Given the description of an element on the screen output the (x, y) to click on. 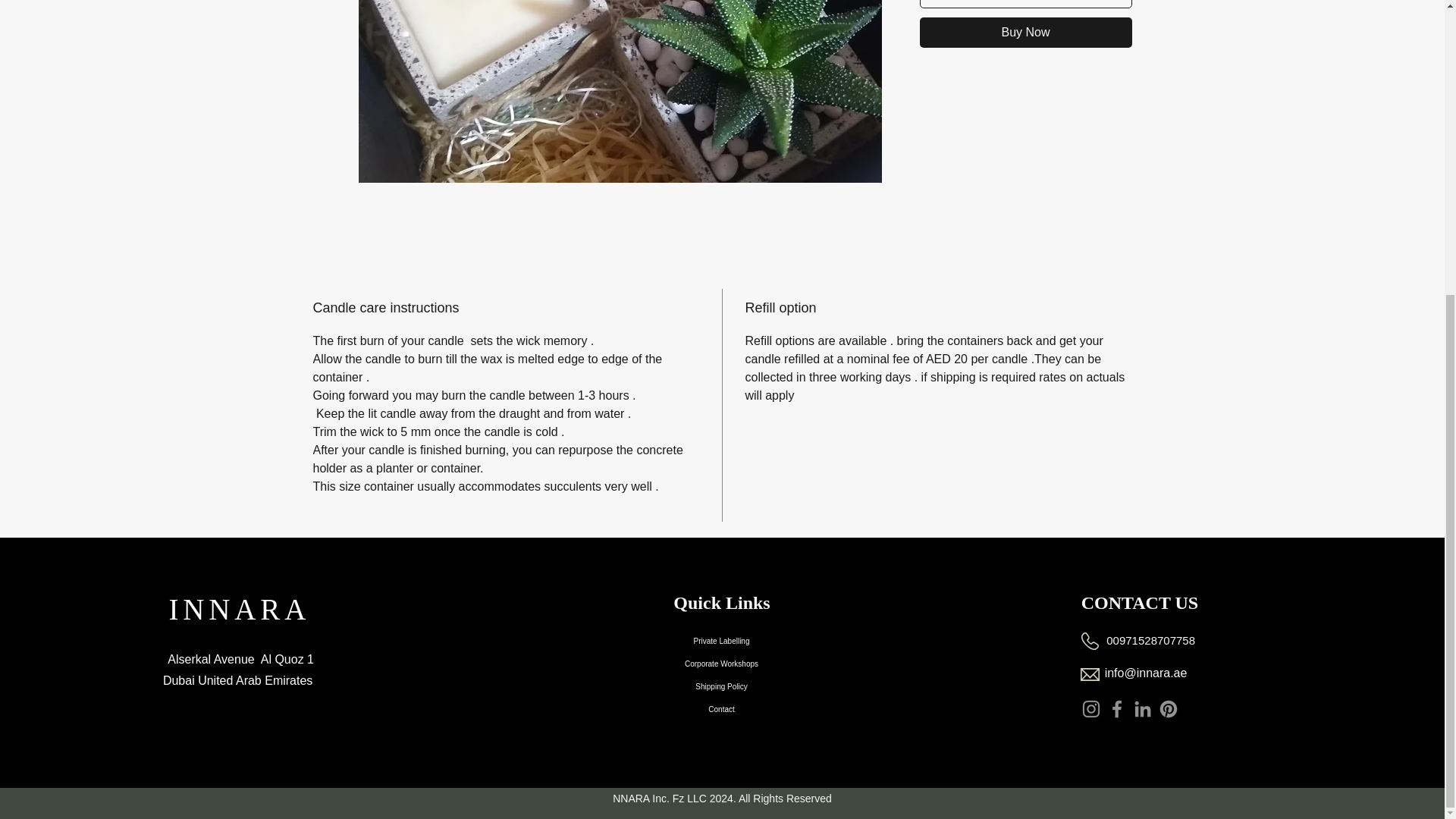
Contact (721, 709)
Shipping Policy (721, 686)
Buy Now (1024, 32)
00971528707758 (1150, 640)
Corporate Workshops (721, 663)
Private Labelling (721, 640)
Add to Cart (1024, 4)
